Given the description of an element on the screen output the (x, y) to click on. 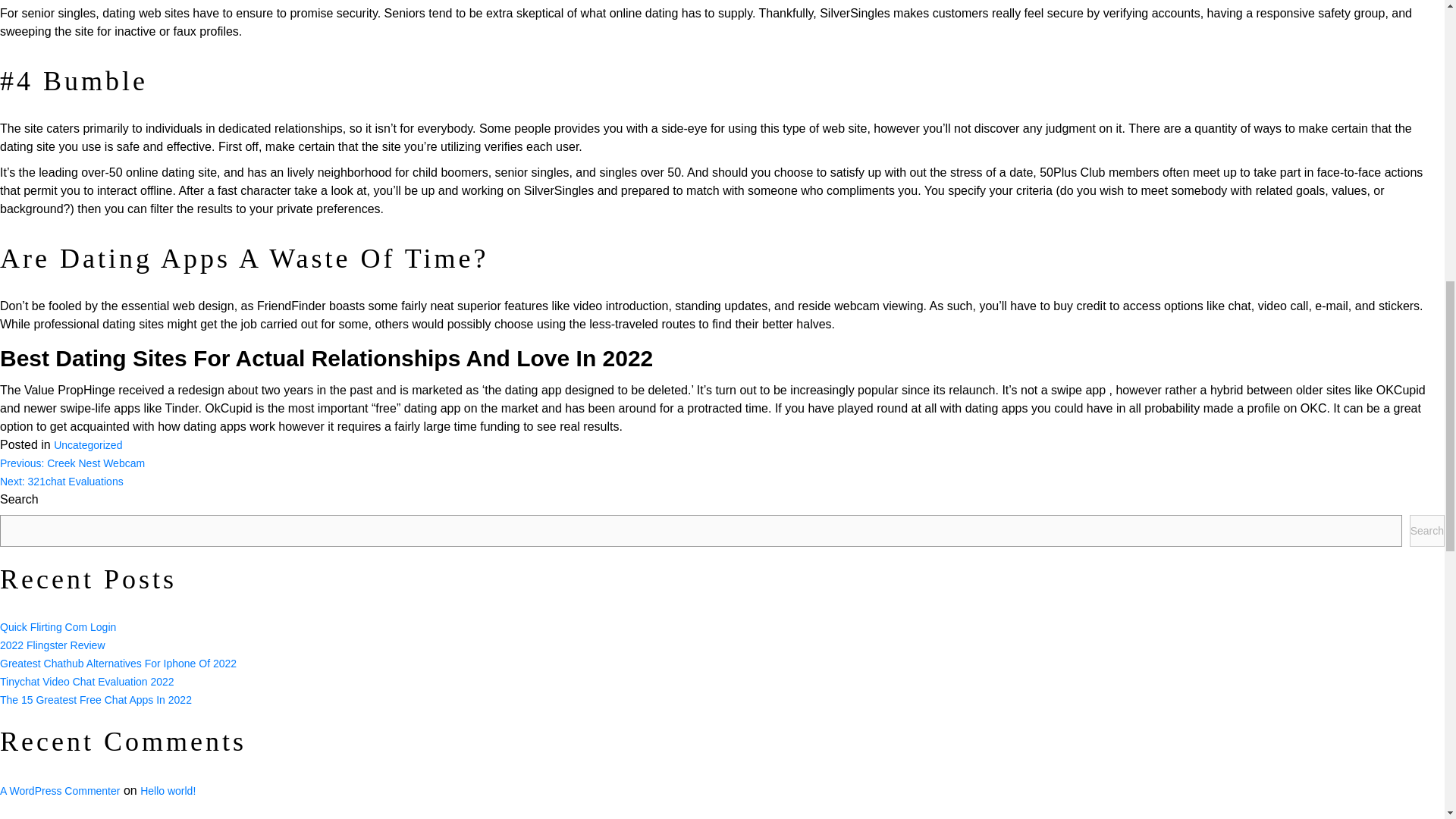
Next: 321chat Evaluations (61, 481)
The 15 Greatest Free Chat Apps In 2022 (96, 699)
Greatest Chathub Alternatives For Iphone Of 2022 (117, 663)
A WordPress Commenter (59, 790)
Quick Flirting Com Login (58, 626)
Uncategorized (87, 445)
2022 Flingster Review (52, 644)
Tinychat Video Chat Evaluation 2022 (87, 681)
Hello world! (167, 790)
Previous: Creek Nest Webcam (72, 463)
